Given the description of an element on the screen output the (x, y) to click on. 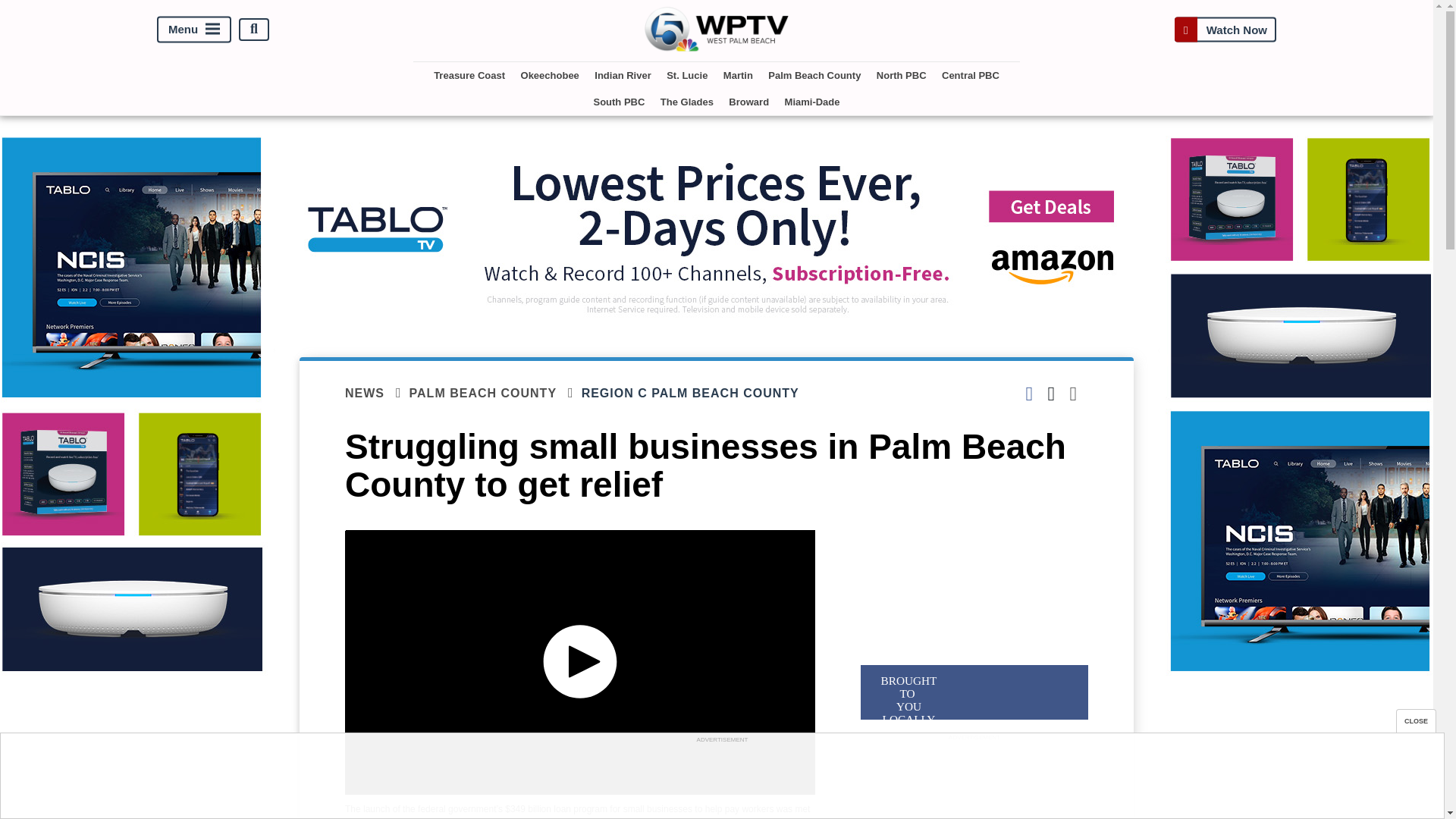
Menu (194, 28)
3rd party ad content (973, 781)
Watch Now (1224, 29)
3rd party ad content (721, 780)
